Given the description of an element on the screen output the (x, y) to click on. 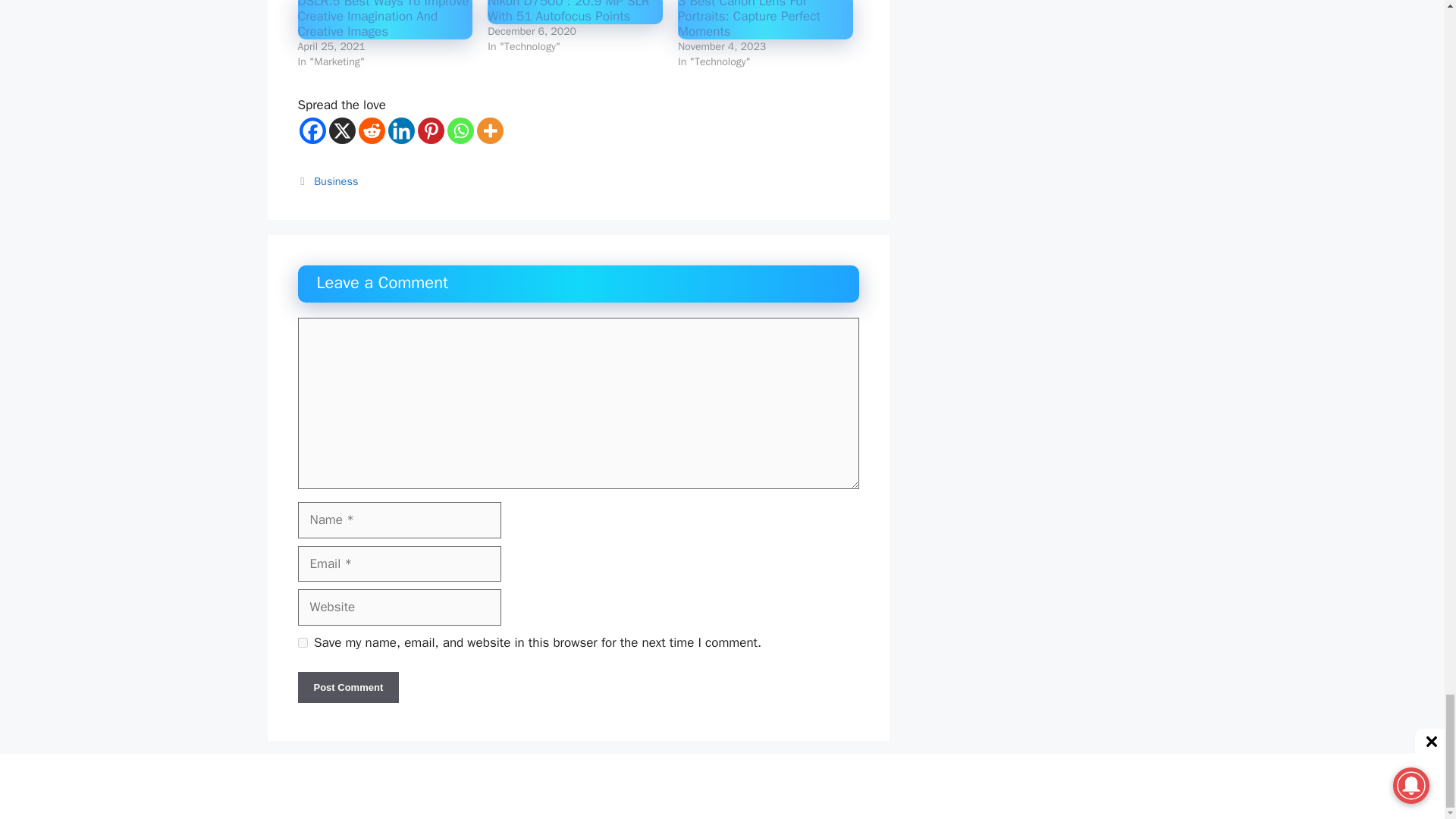
Post Comment (347, 687)
Nikon D7500 : 20.9 MP SLR With 51 Autofocus Points (568, 12)
yes (302, 642)
3 Best Canon Lens For Portraits: Capture Perfect Moments (749, 19)
